Given the description of an element on the screen output the (x, y) to click on. 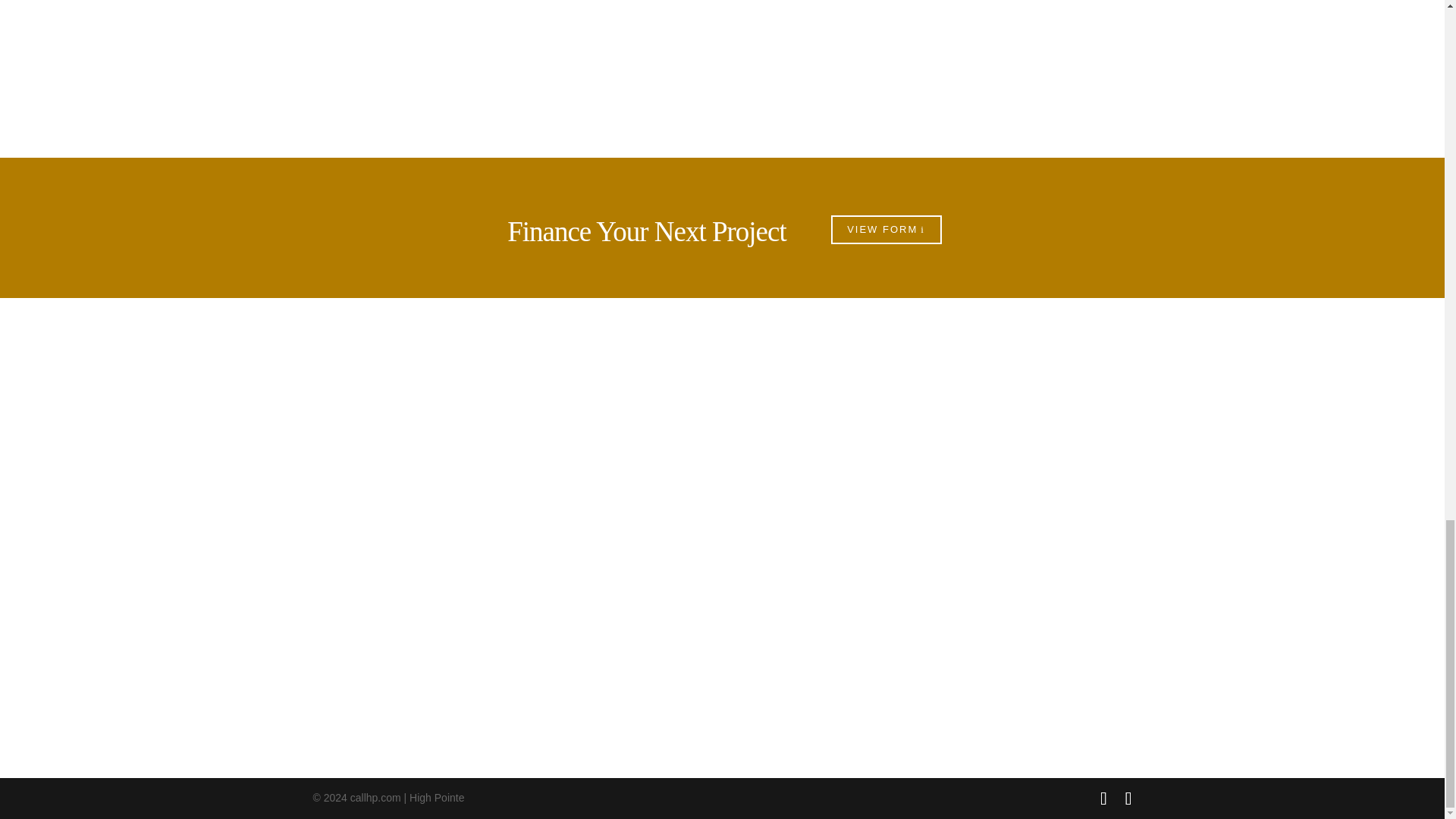
VIEW FORM (886, 229)
